Given the description of an element on the screen output the (x, y) to click on. 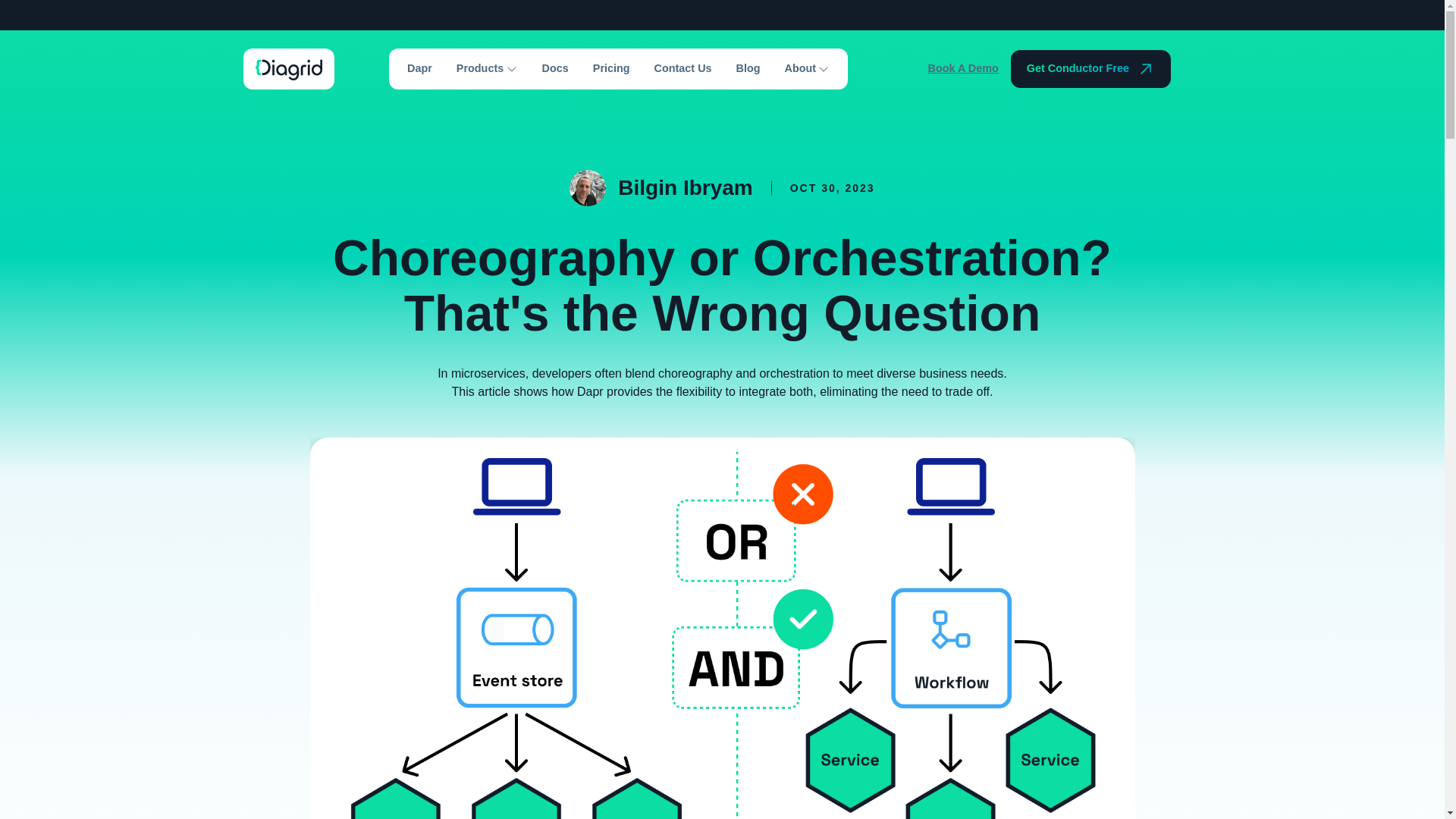
Pricing (611, 68)
Blog (748, 68)
Docs (555, 68)
Get Conductor Free (1090, 68)
Book A Demo (963, 68)
Dapr (419, 68)
Contact Us (682, 68)
